Given the description of an element on the screen output the (x, y) to click on. 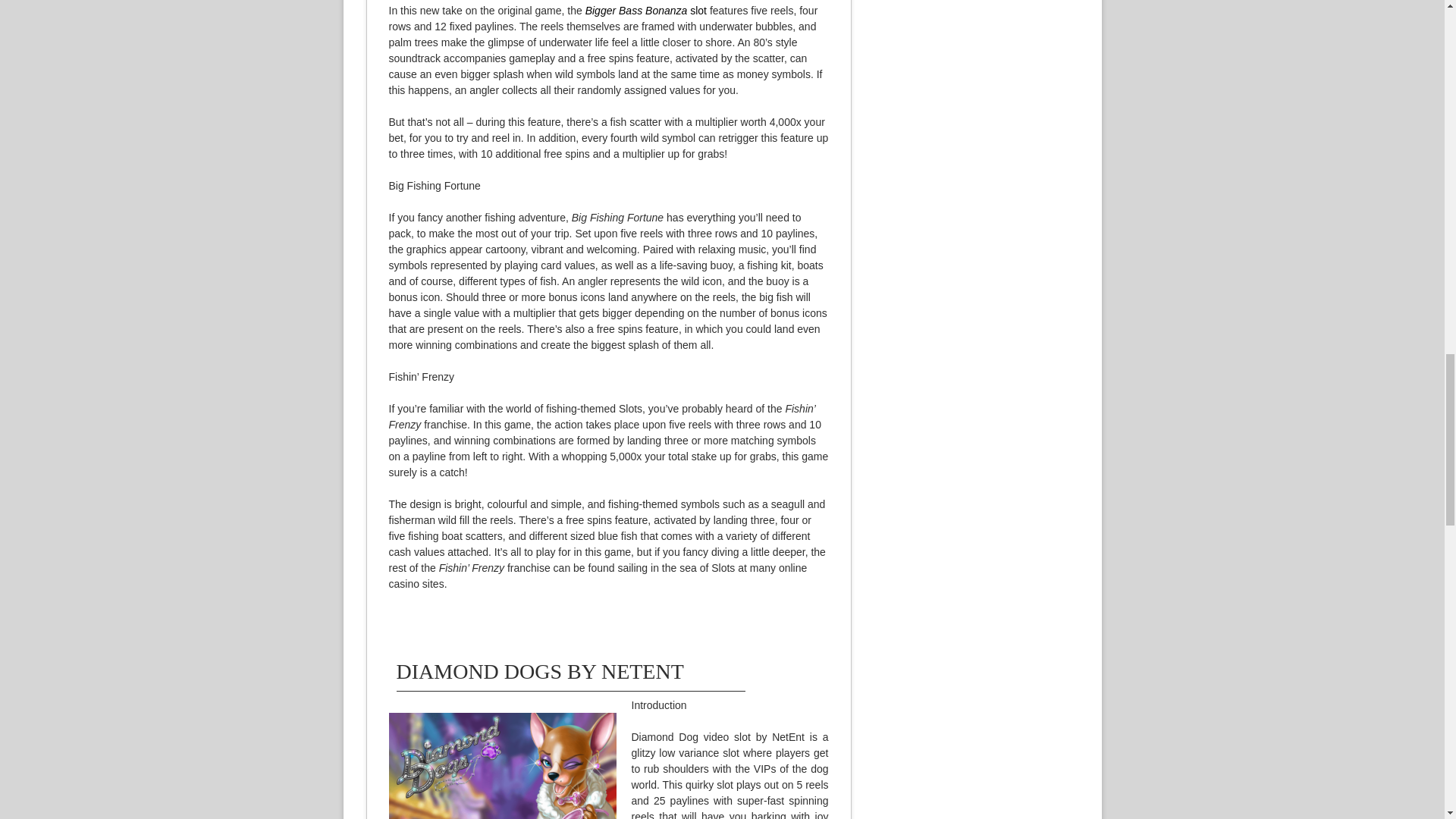
Bigger Bass Bonanza slot (645, 10)
DIAMOND DOGS BY NETENT (539, 671)
Permalink to Diamond Dogs by NetEnt (539, 671)
